Given the description of an element on the screen output the (x, y) to click on. 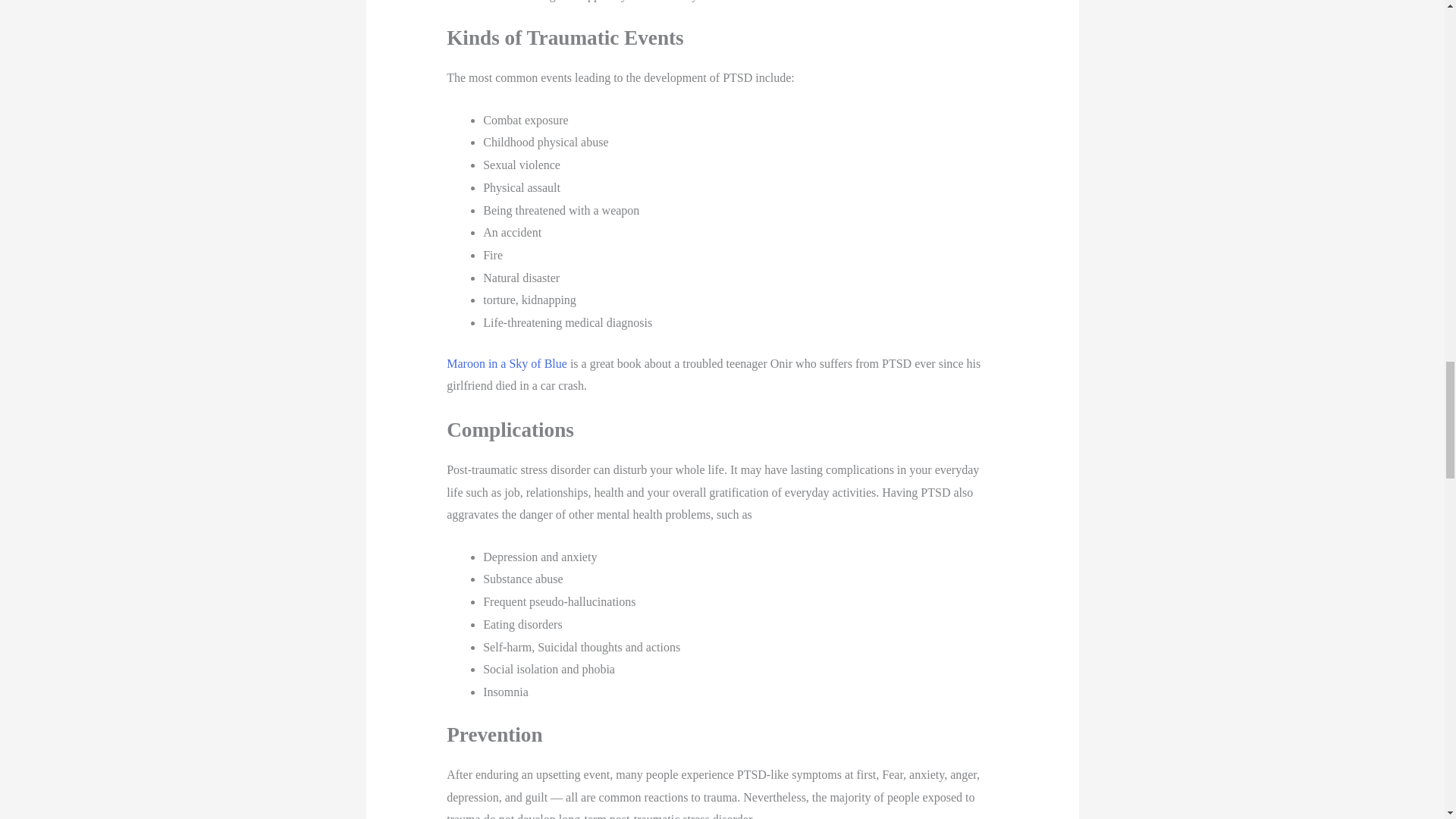
Maroon in a Sky of Blue (508, 363)
